Given the description of an element on the screen output the (x, y) to click on. 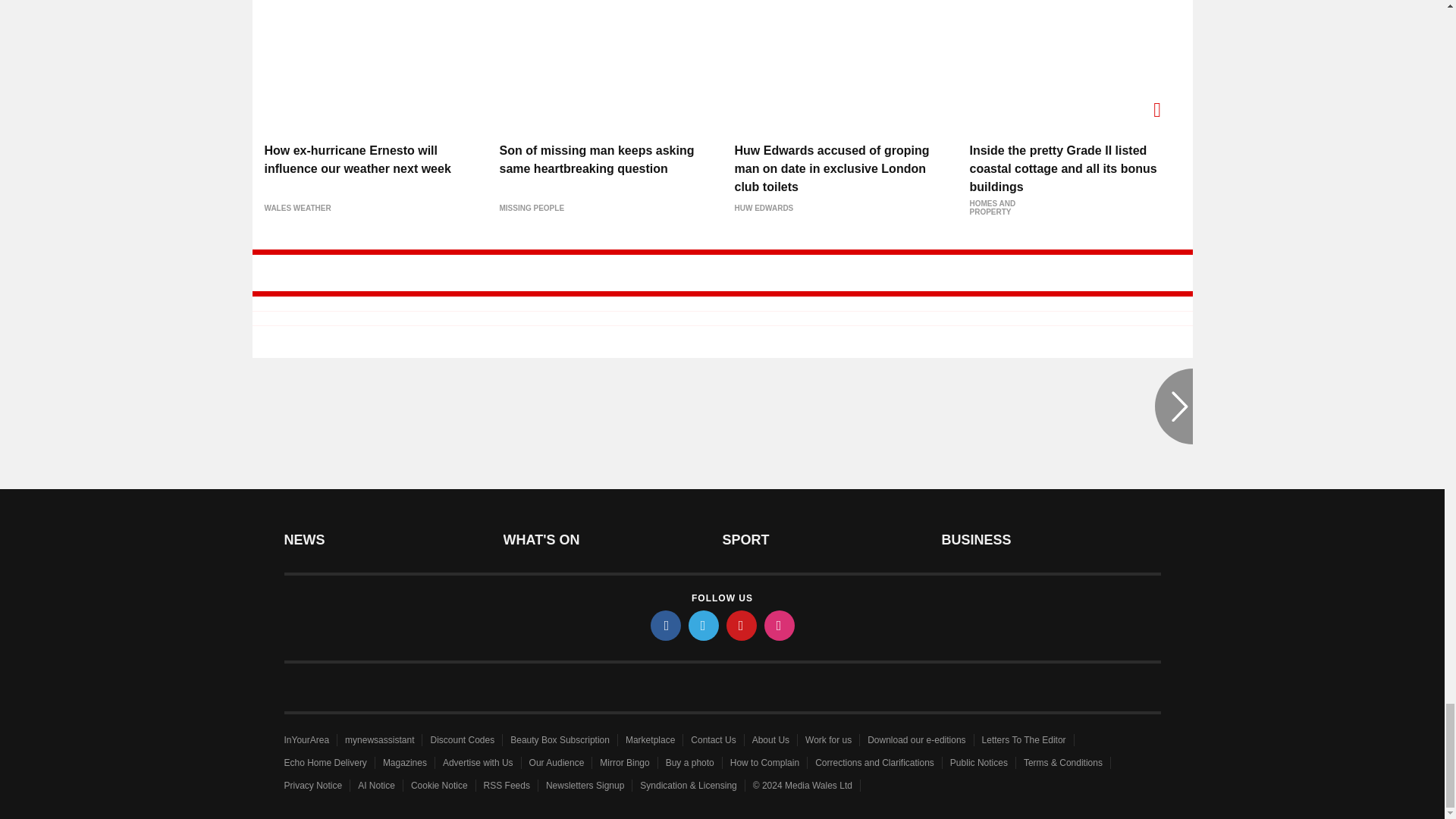
facebook (665, 625)
twitter (703, 625)
pinterest (741, 625)
instagram (779, 625)
